Given the description of an element on the screen output the (x, y) to click on. 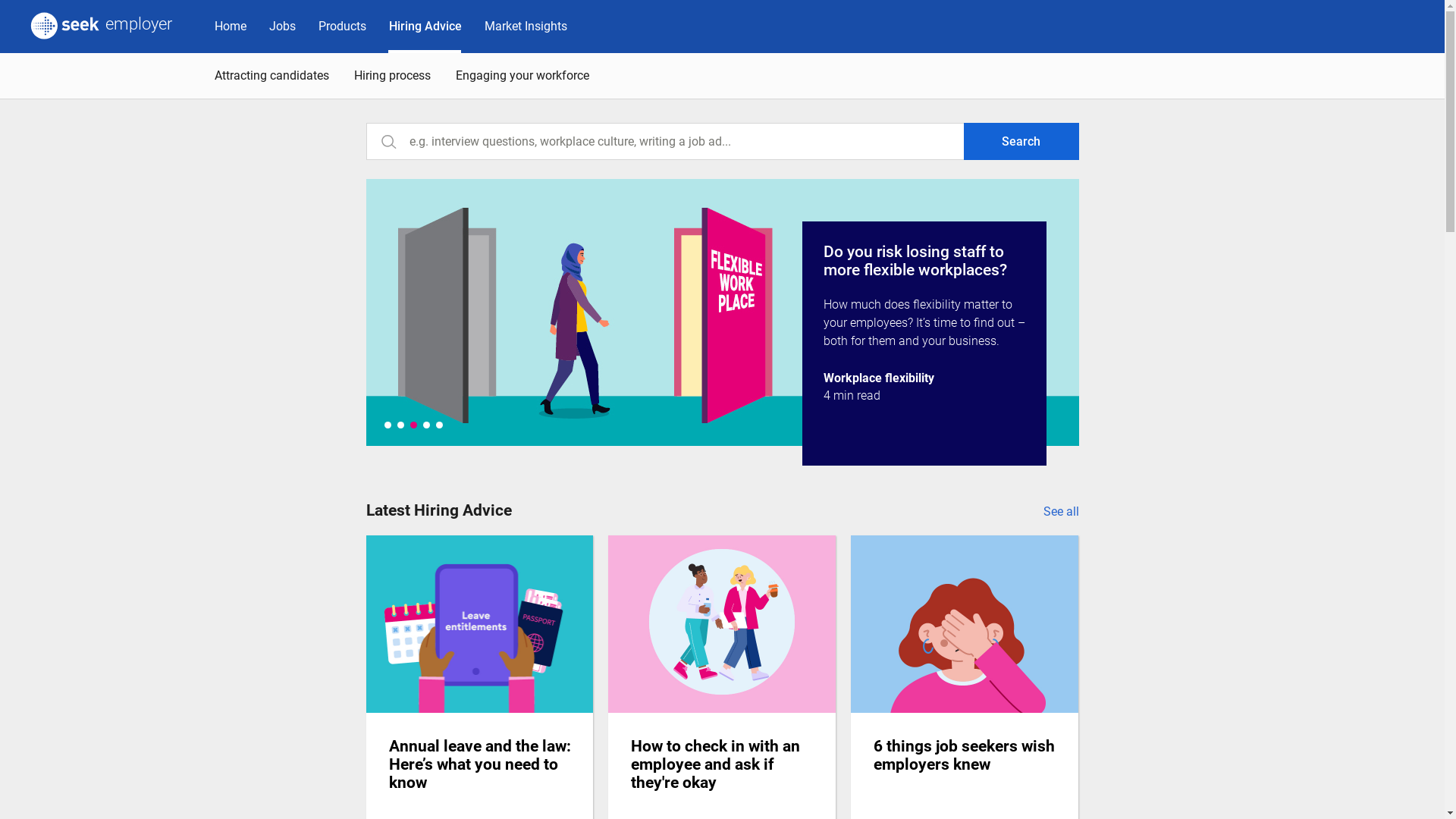
Search Element type: text (1020, 141)
Products Element type: text (342, 26)
Jobs Element type: text (282, 26)
3 Element type: text (412, 424)
Attracting candidates Element type: text (272, 75)
4 Element type: text (426, 424)
See all Element type: text (1061, 513)
5 Element type: text (438, 424)
SEEK
employer Element type: text (101, 26)
Hiring process Element type: text (393, 75)
1 Element type: text (386, 424)
Home Element type: text (230, 26)
Market Insights Element type: text (525, 26)
Hiring Advice Element type: text (425, 26)
Engaging your workforce Element type: text (524, 75)
2 Element type: text (400, 424)
